Given the description of an element on the screen output the (x, y) to click on. 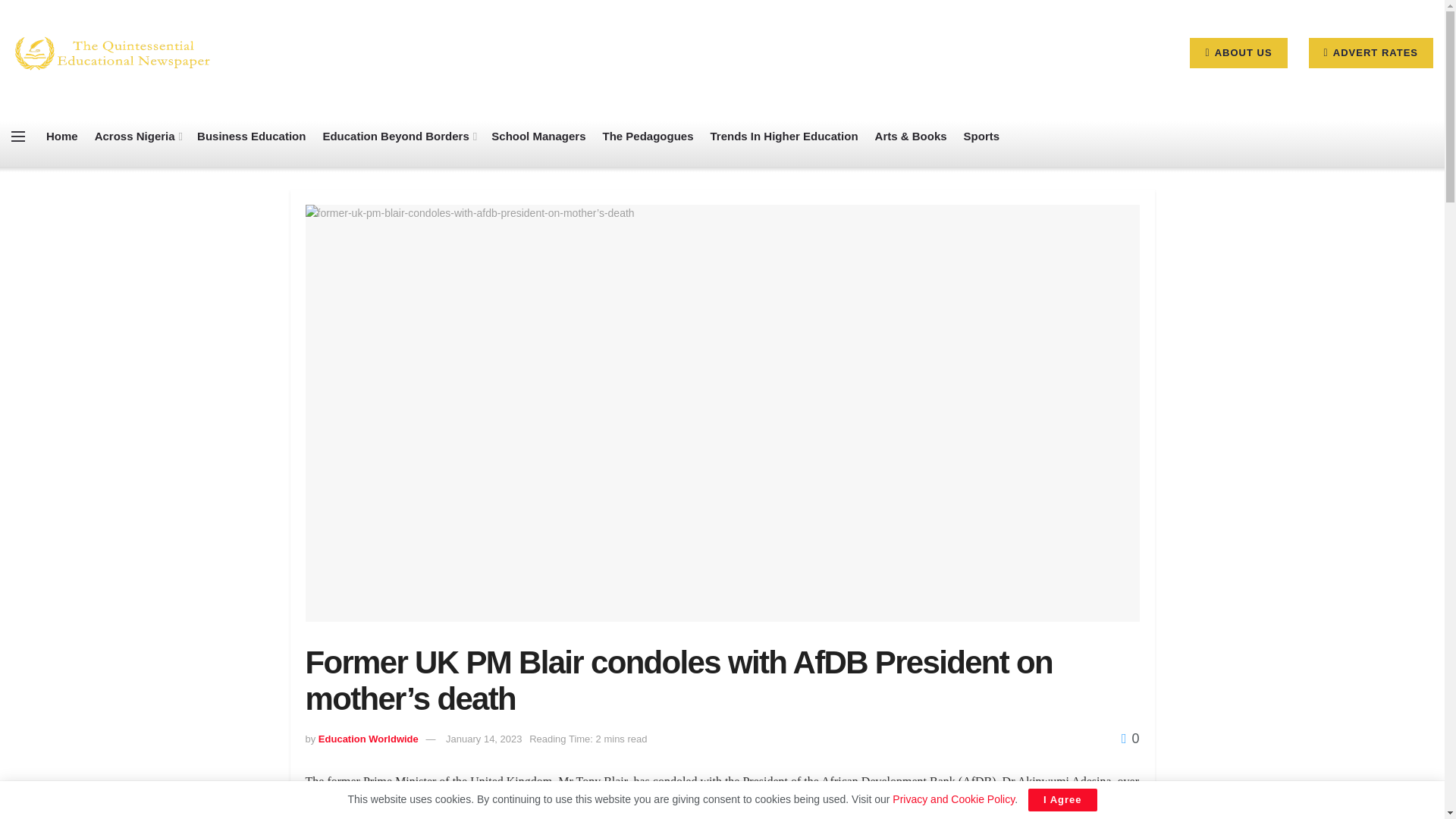
ABOUT US (1238, 52)
Education Worldwide (368, 738)
Sports (981, 136)
ADVERT RATES (1370, 52)
School Managers (538, 136)
Home (62, 136)
Across Nigeria (137, 136)
The Pedagogues (647, 136)
Trends In Higher Education (784, 136)
January 14, 2023 (483, 738)
0 (1130, 738)
Business Education (250, 136)
Education Beyond Borders (397, 136)
